Given the description of an element on the screen output the (x, y) to click on. 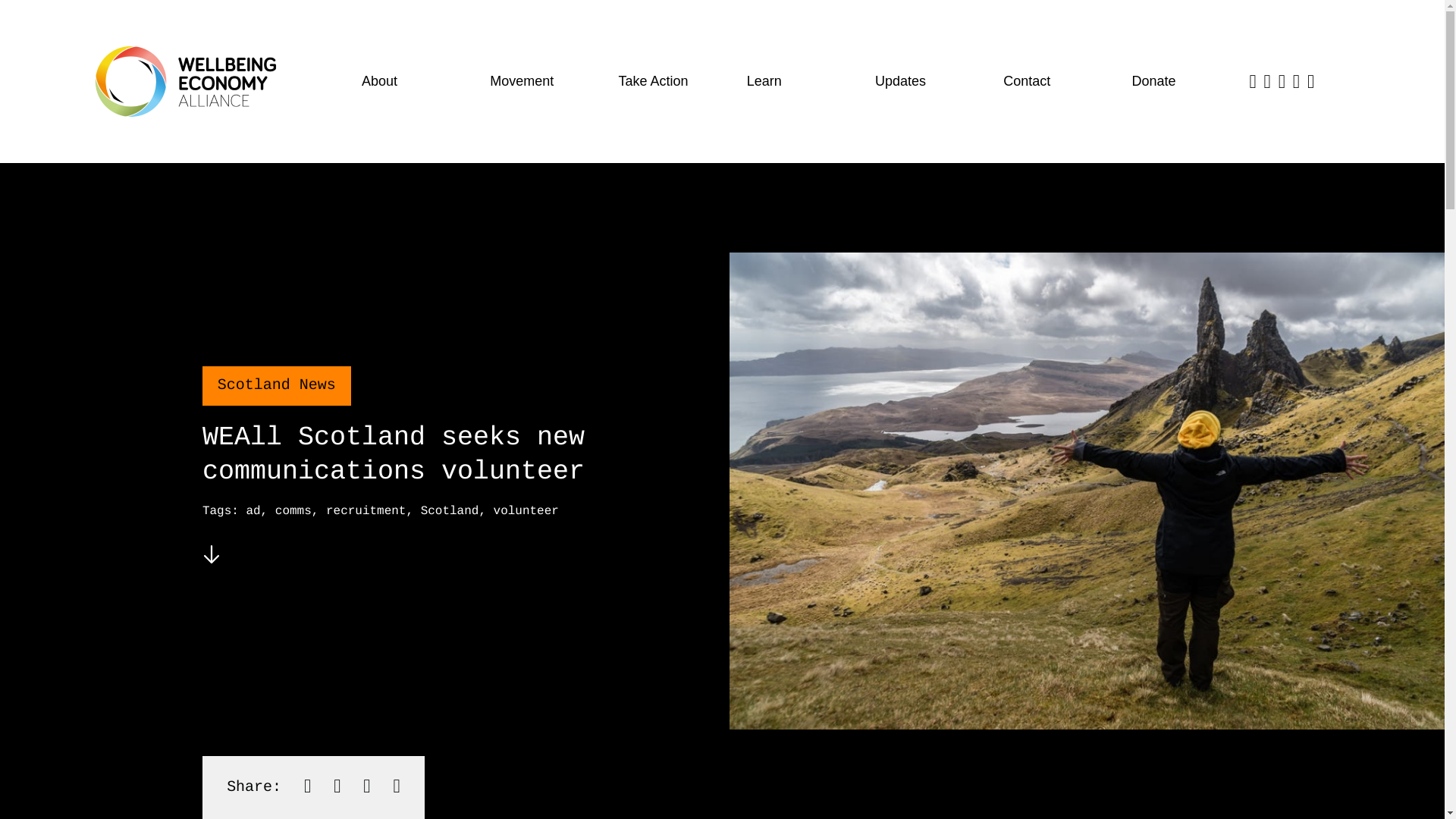
Learn (792, 81)
Take Action (664, 81)
Movement (536, 81)
Donate (1178, 81)
About (407, 81)
Contact (1050, 81)
Updates (921, 81)
